Given the description of an element on the screen output the (x, y) to click on. 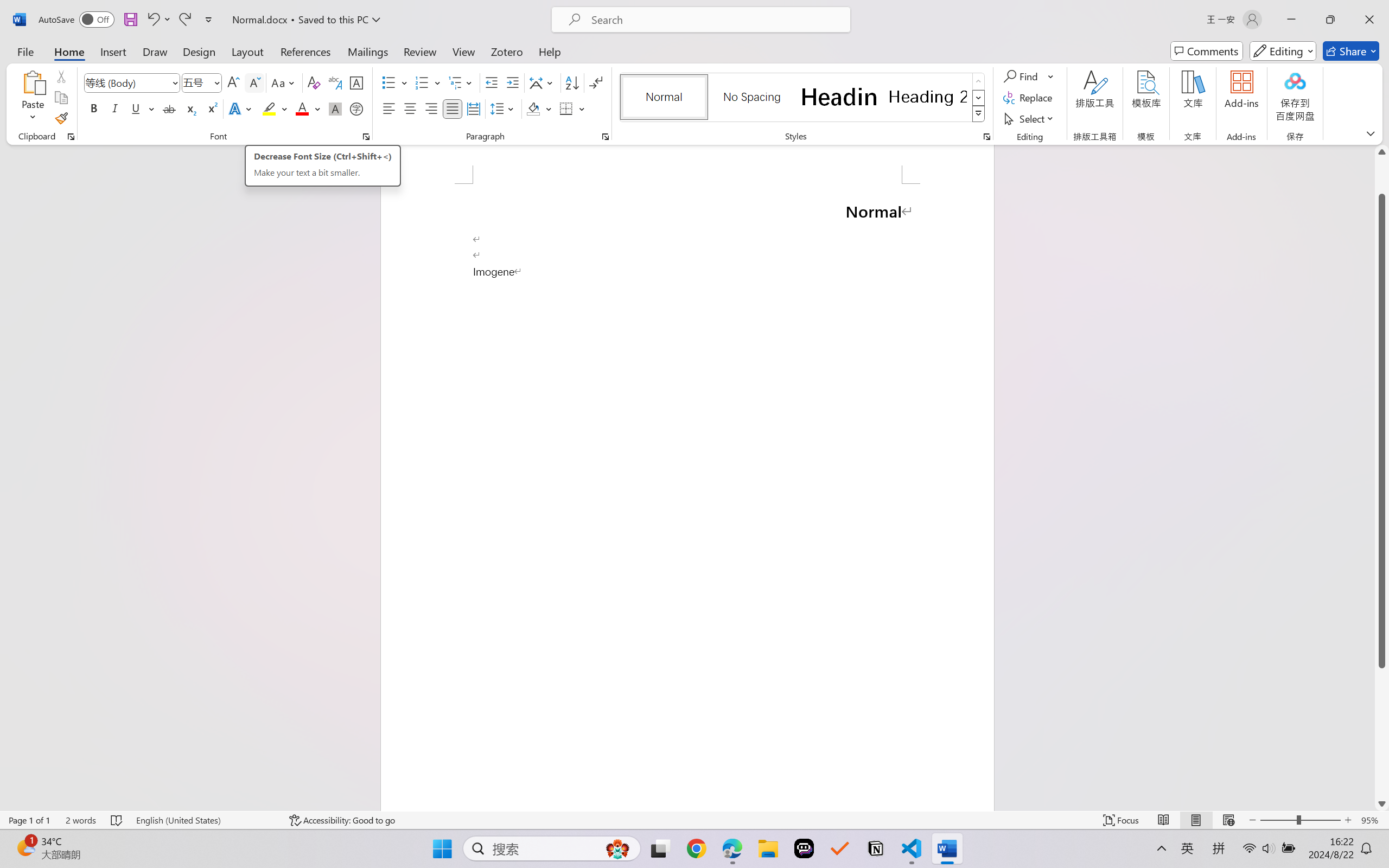
Font... (365, 136)
Styles... (986, 136)
Align Left (388, 108)
Decrease Indent (491, 82)
Increase Indent (512, 82)
Text Effects and Typography (241, 108)
Multilevel List (461, 82)
